Given the description of an element on the screen output the (x, y) to click on. 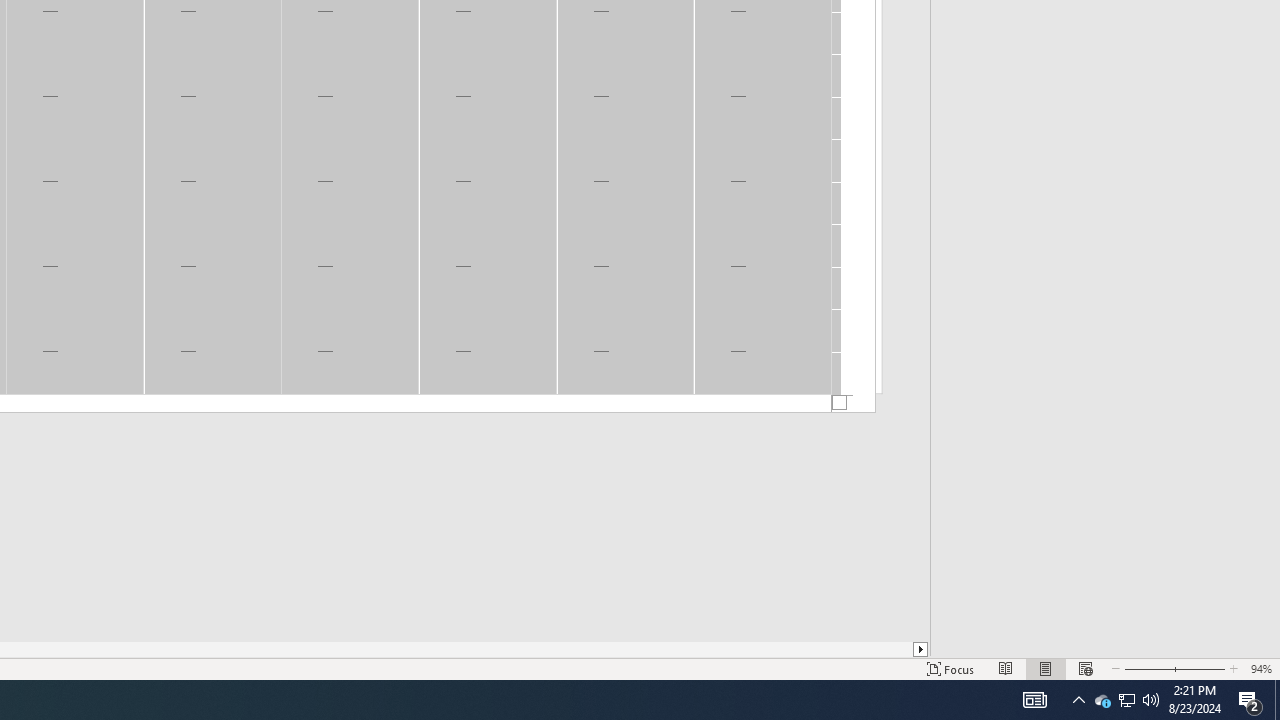
Column right (921, 649)
